Given the description of an element on the screen output the (x, y) to click on. 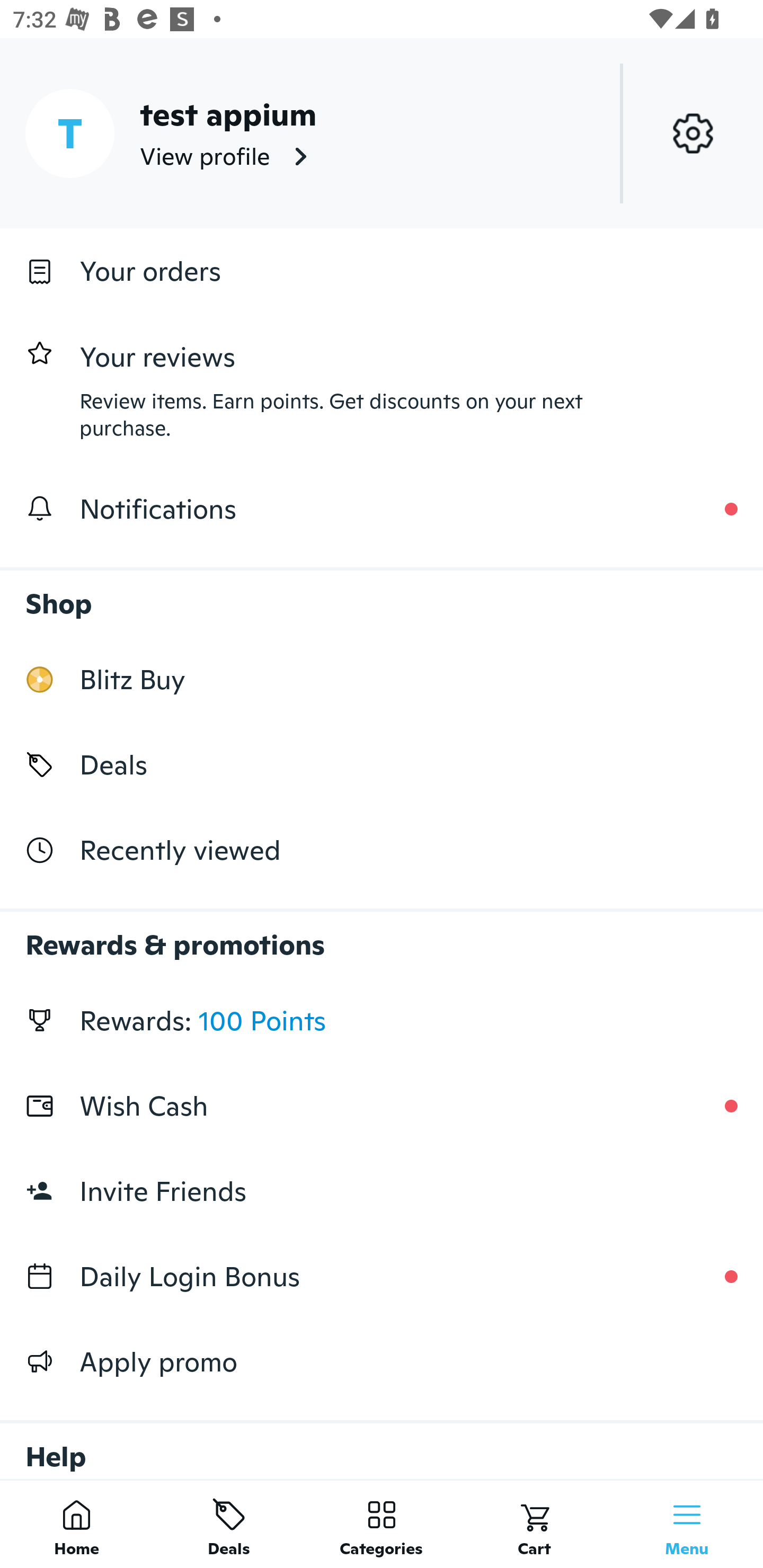
T test appium View profile (381, 132)
Your orders (381, 270)
Notifications (381, 508)
Shop (381, 593)
Blitz Buy (381, 679)
Deals (381, 764)
Recently viewed (381, 850)
Rewards & promotions (381, 935)
Rewards: 100 Points (381, 1020)
Wish Cash (381, 1106)
Invite Friends (381, 1190)
Daily Login Bonus (381, 1277)
Apply promo (381, 1361)
Help (381, 1441)
Home (76, 1523)
Deals (228, 1523)
Categories (381, 1523)
Cart (533, 1523)
Menu (686, 1523)
